Given the description of an element on the screen output the (x, y) to click on. 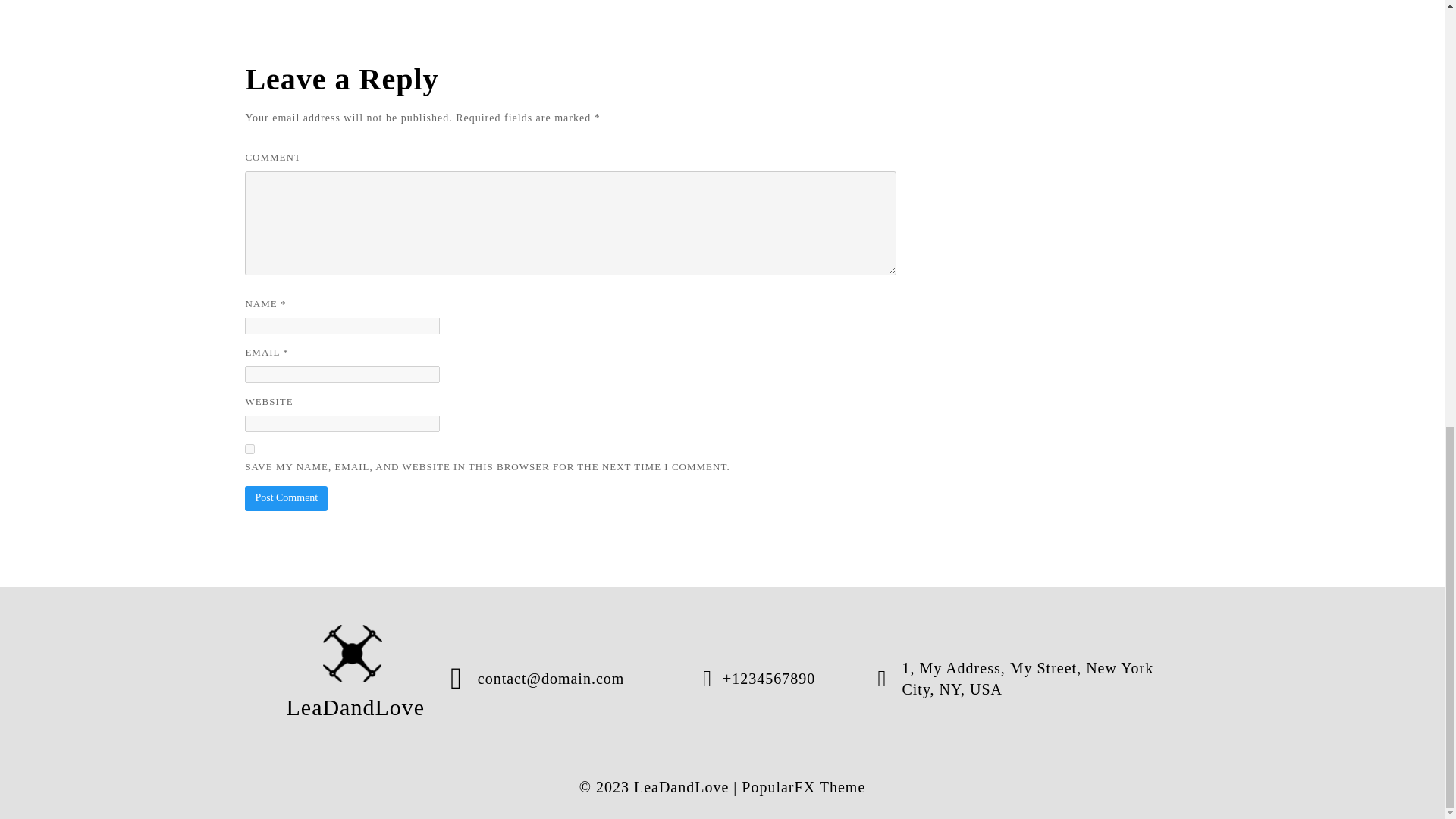
Post Comment (285, 498)
LeaDandLove (352, 678)
yes (249, 449)
logo (352, 653)
PopularFX Theme (802, 786)
Post Comment (285, 498)
